Given the description of an element on the screen output the (x, y) to click on. 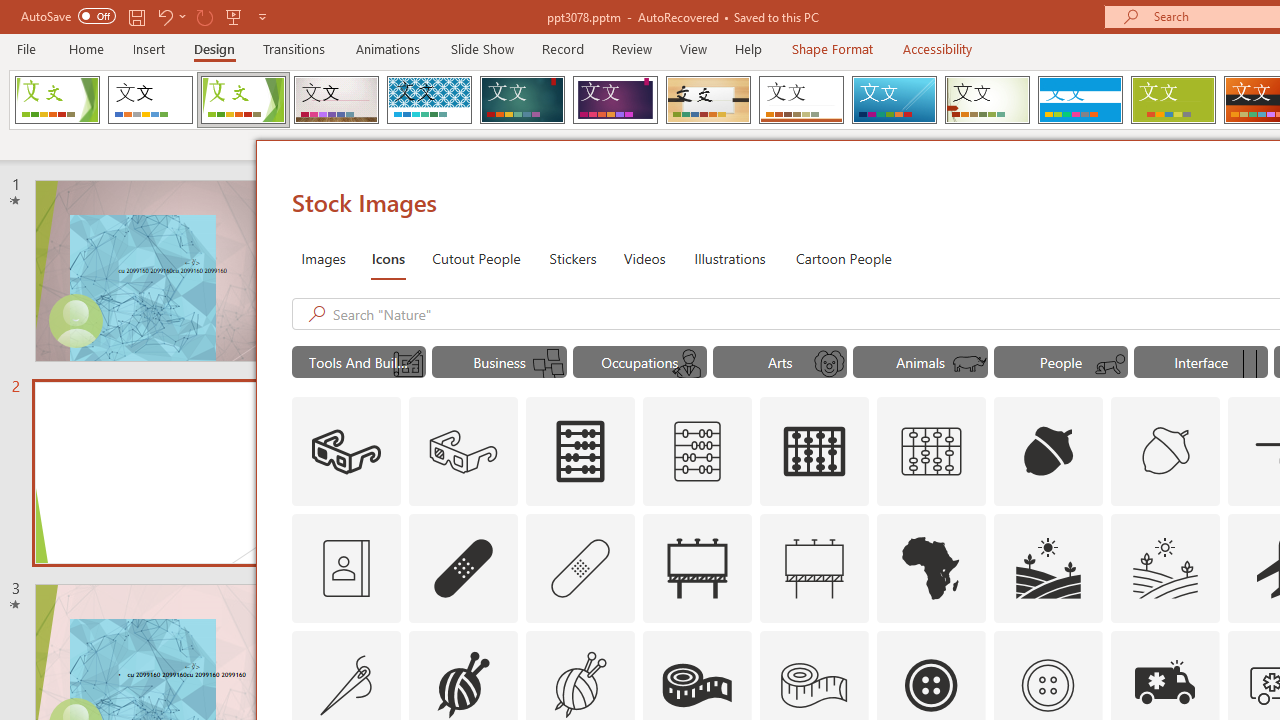
Ion Boardroom (615, 100)
AutomationID: Icons_AddressBook_RTL_M (346, 568)
"Tools And Building" Icons. (358, 362)
Basis (1172, 100)
AutomationID: Icons_Acorn_M (1165, 452)
Cartoon People (843, 258)
AutomationID: Icons_Pause_M (1249, 364)
AutomationID: Icons_Advertising (697, 568)
"Arts" Icons. (779, 362)
